Given the description of an element on the screen output the (x, y) to click on. 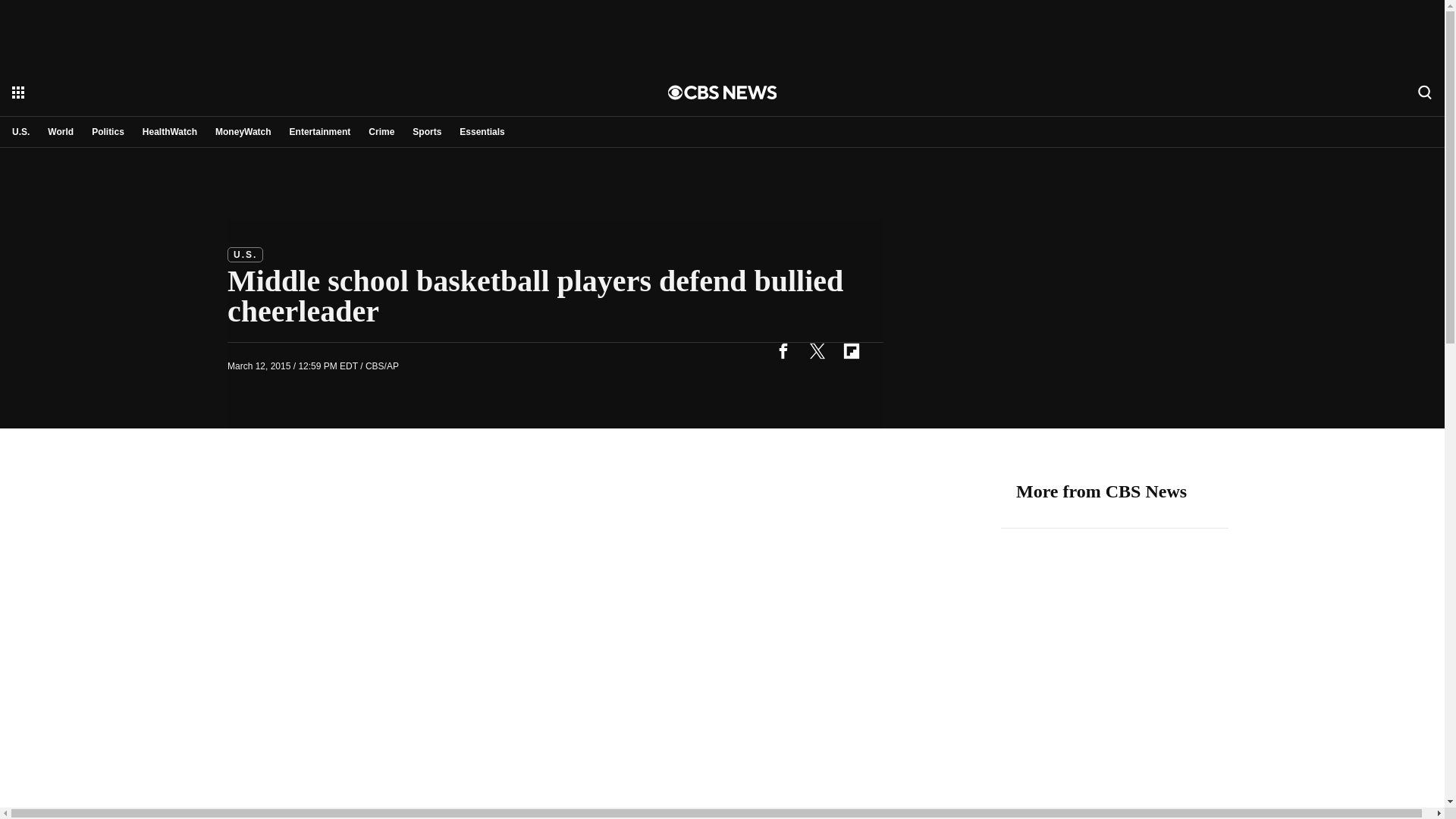
twitter (816, 350)
facebook (782, 350)
flipboard (850, 350)
